Given the description of an element on the screen output the (x, y) to click on. 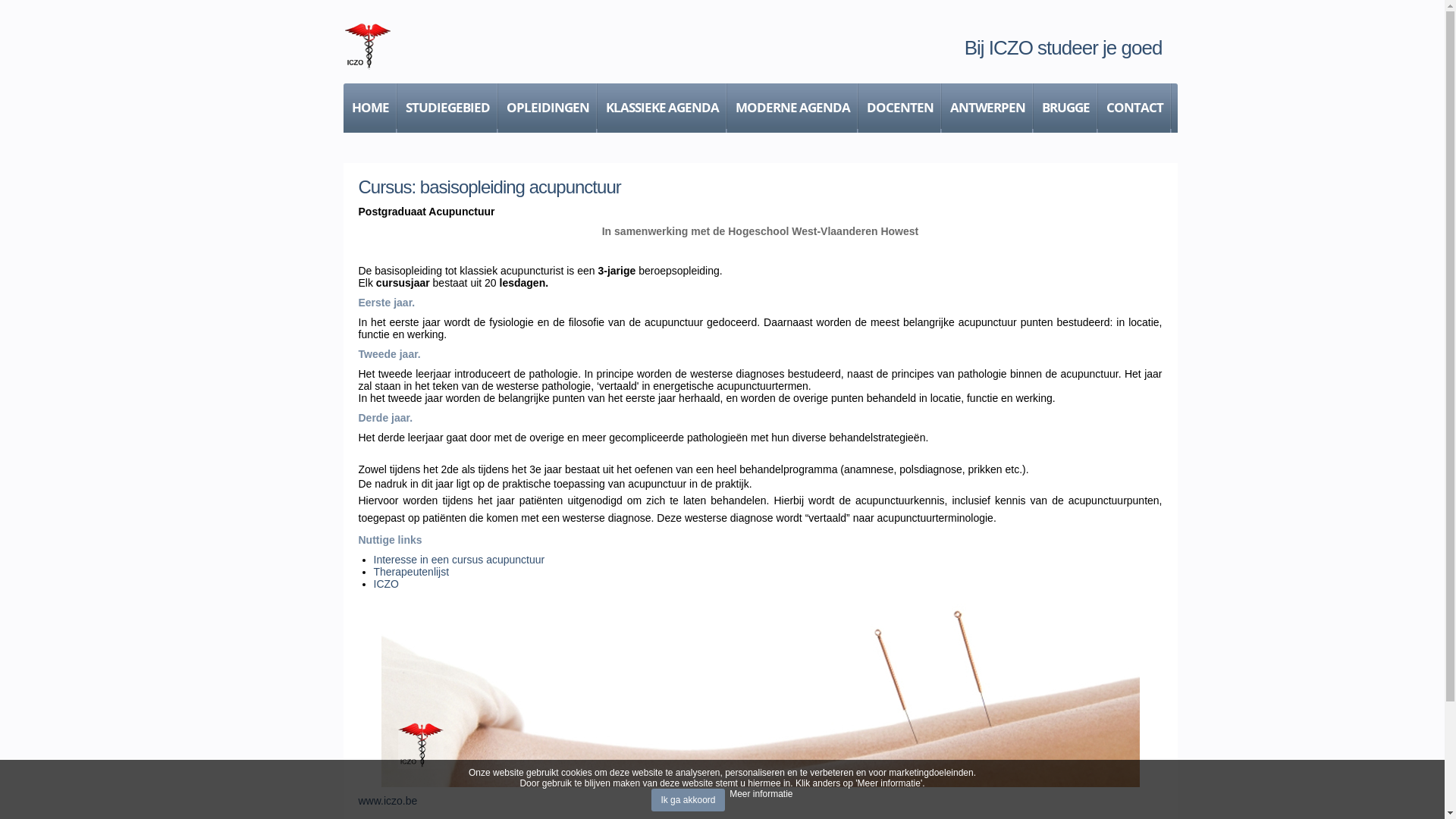
Interesse in een cursus acupunctuur Element type: text (458, 559)
STUDIEGEBIED Element type: text (447, 107)
Therapeutenlijst Element type: text (410, 571)
BRUGGE Element type: text (1064, 107)
Ik ga akkoord Element type: text (687, 799)
MODERNE AGENDA Element type: text (791, 107)
KLASSIEKE AGENDA Element type: text (662, 107)
Meer informatie Element type: text (760, 793)
HOME Element type: text (369, 107)
ANTWERPEN Element type: text (987, 107)
ICZO Element type: text (385, 583)
OPLEIDINGEN Element type: text (546, 107)
CONTACT Element type: text (1134, 107)
www.iczo.be Element type: text (387, 800)
DOCENTEN Element type: text (899, 107)
